Given the description of an element on the screen output the (x, y) to click on. 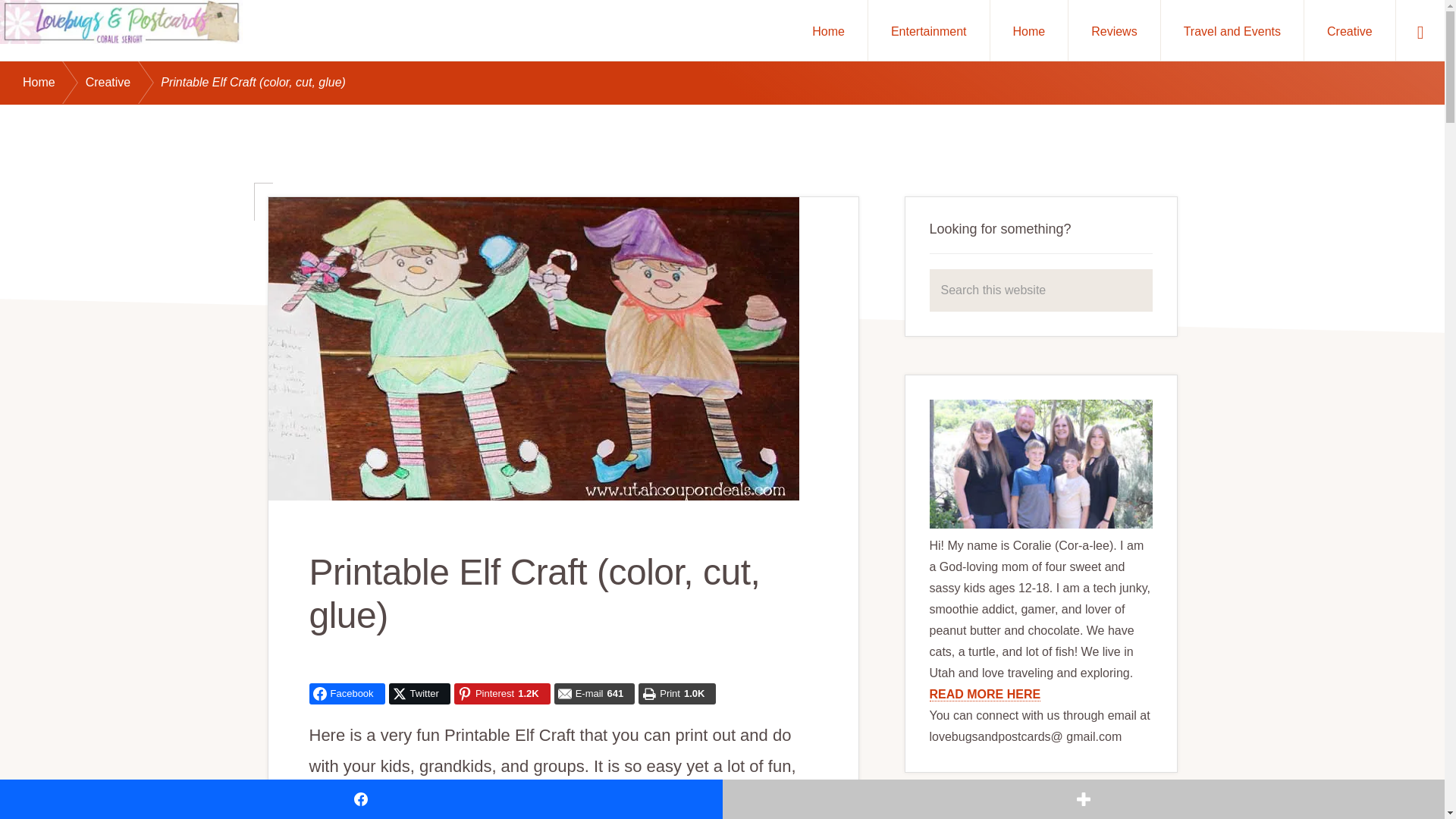
Entertainment (928, 30)
Print1.0K (677, 693)
E-mail641 (594, 693)
Facebook (346, 693)
Share on Print (677, 693)
Reviews (1113, 30)
Home (54, 82)
Home (1029, 30)
Creative (1349, 30)
Creative (123, 82)
Home (828, 30)
Pinterest1.2K (502, 693)
Share on Twitter (418, 693)
Share on Facebook (346, 693)
